Given the description of an element on the screen output the (x, y) to click on. 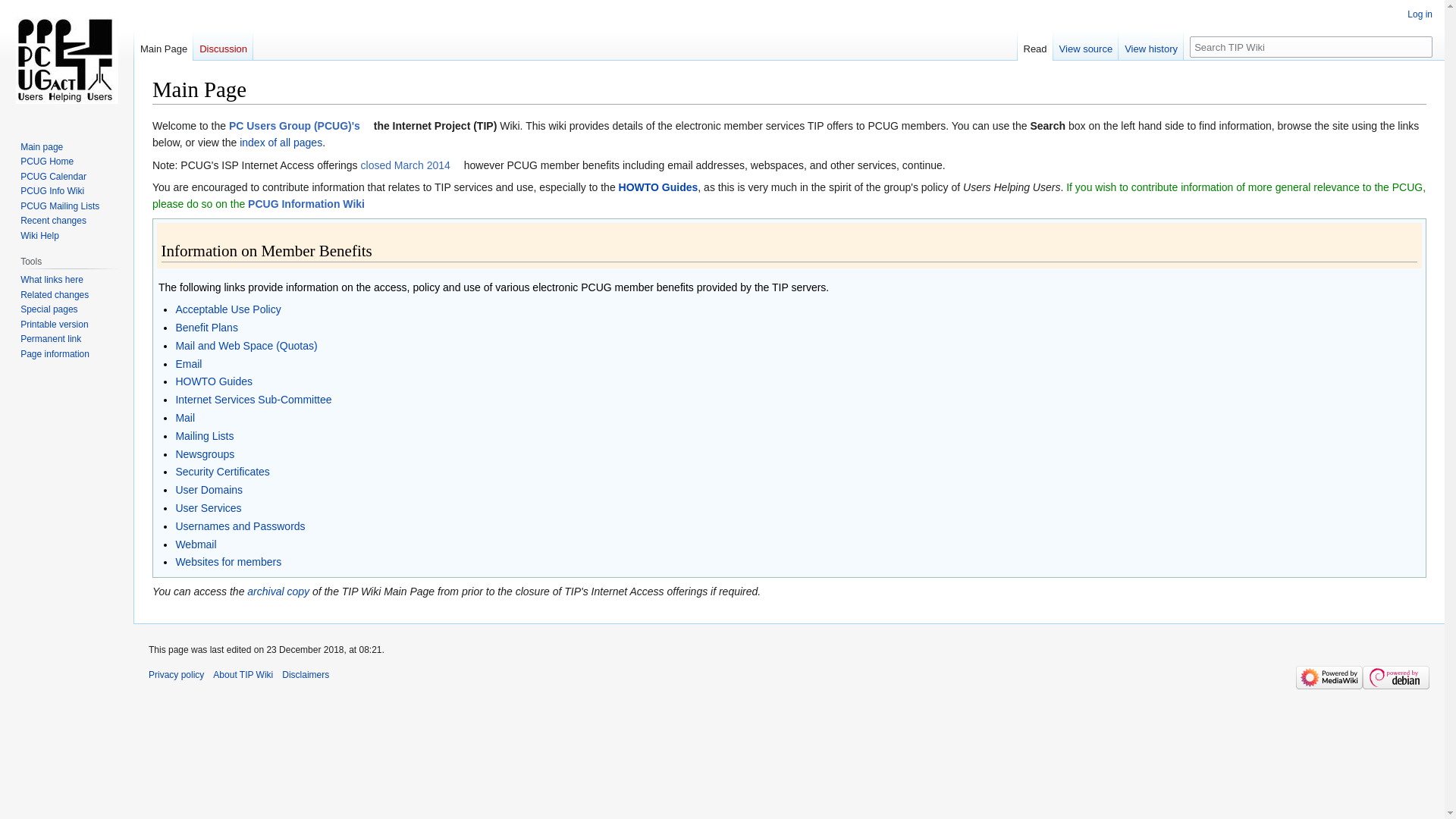
What links here Element type: text (51, 279)
Mailing Lists Element type: text (204, 435)
Benefit Plans Element type: text (206, 327)
User Services Element type: text (208, 508)
archival copy Element type: text (278, 591)
Usernames and Passwords Element type: text (239, 526)
PCUG Info Wiki Element type: text (52, 190)
Wiki Help Element type: text (39, 235)
Log in Element type: text (1419, 14)
Internet Services Sub-Committee Element type: text (253, 399)
Visit the main page Element type: hover (66, 60)
Main Page Element type: text (163, 45)
PCUG Mailing Lists Element type: text (59, 205)
Acceptable Use Policy Element type: text (227, 309)
closed March 2014 Element type: text (410, 165)
Privacy policy Element type: text (175, 674)
Mail Element type: text (184, 417)
Permanent link Element type: text (50, 338)
Read Element type: text (1035, 45)
Special pages Element type: text (48, 309)
PCUG Information Wiki Element type: text (311, 203)
PC Users Group (PCUG)'s Element type: text (299, 125)
PCUG Calendar Element type: text (53, 176)
Search Element type: text (1420, 46)
Discussion Element type: text (223, 45)
Recent changes Element type: text (53, 220)
Related changes Element type: text (54, 294)
View history Element type: text (1150, 45)
Email Element type: text (188, 363)
Jump to navigation Element type: text (151, 116)
User Domains Element type: text (208, 489)
index of all pages Element type: text (280, 142)
Search TIP Wiki [alt-shift-f] Element type: hover (1310, 46)
Search the pages for this text Element type: hover (1420, 46)
Printable version Element type: text (53, 324)
View source Element type: text (1086, 45)
HOWTO Guides Element type: text (658, 187)
Newsgroups Element type: text (204, 454)
Page information Element type: text (54, 353)
PCUG Home Element type: text (46, 161)
About TIP Wiki Element type: text (243, 674)
Websites for members Element type: text (228, 561)
Webmail Element type: text (195, 544)
Security Certificates Element type: text (222, 471)
Mail and Web Space (Quotas) Element type: text (245, 345)
Main page Element type: text (41, 146)
HOWTO Guides Element type: text (213, 381)
Disclaimers Element type: text (305, 674)
